Given the description of an element on the screen output the (x, y) to click on. 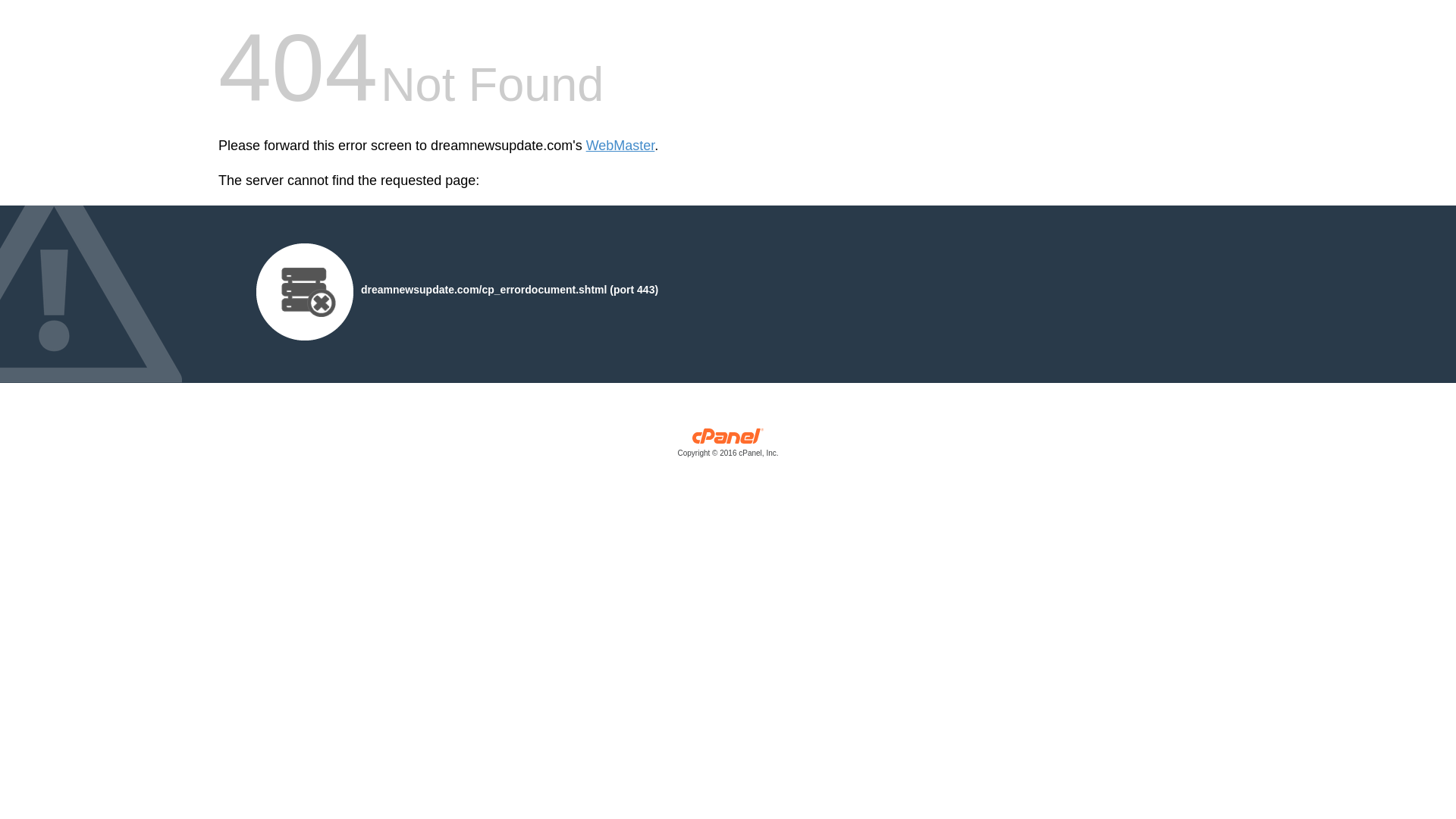
WebMaster (620, 145)
cPanel, Inc. (727, 446)
